Given the description of an element on the screen output the (x, y) to click on. 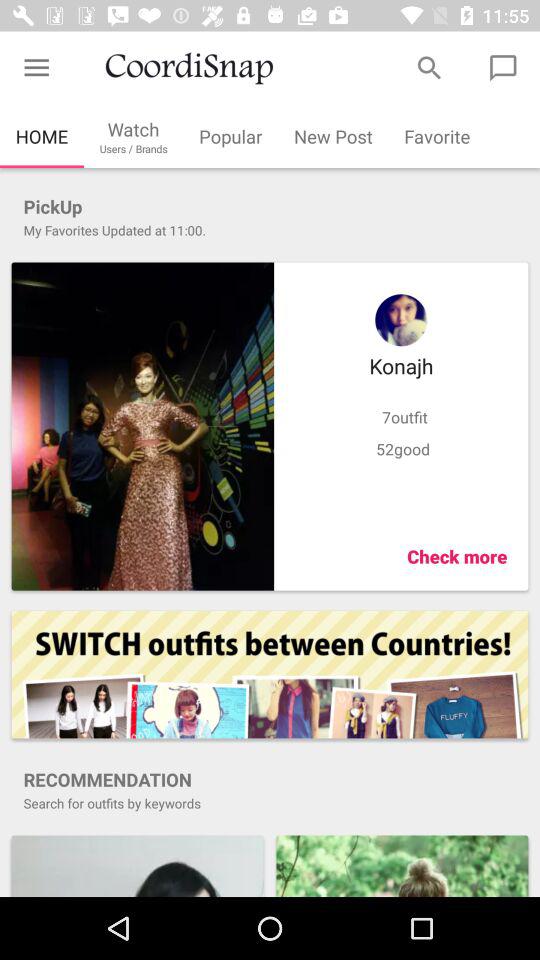
view larger image (142, 426)
